Given the description of an element on the screen output the (x, y) to click on. 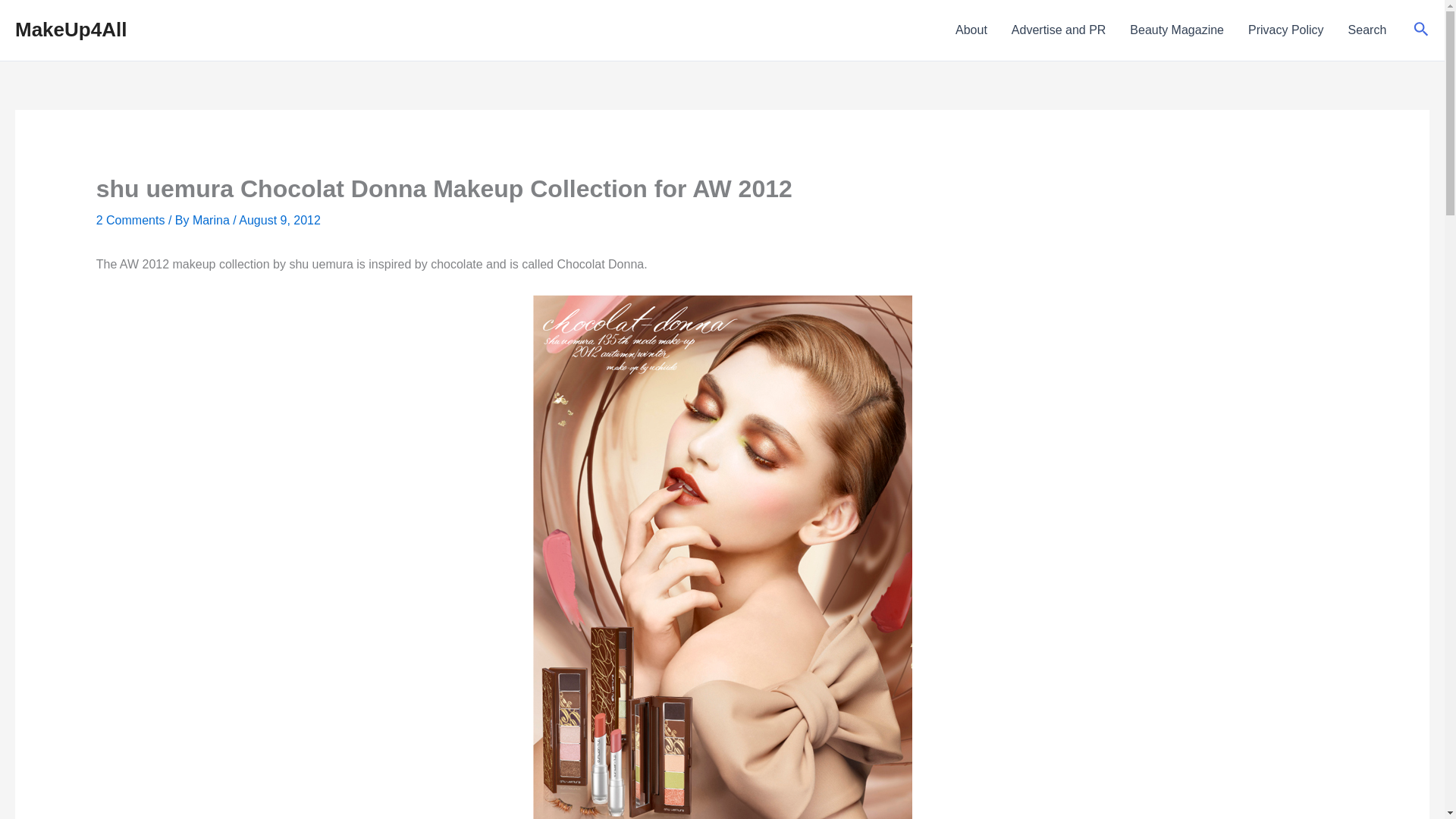
Search (1421, 30)
Privacy Policy (1286, 30)
Advertise and PR (1058, 30)
Marina (212, 219)
View all posts by Marina (212, 219)
Search (1367, 30)
Beauty Magazine (1177, 30)
About (970, 30)
2 Comments (130, 219)
MakeUp4All (70, 29)
